Given the description of an element on the screen output the (x, y) to click on. 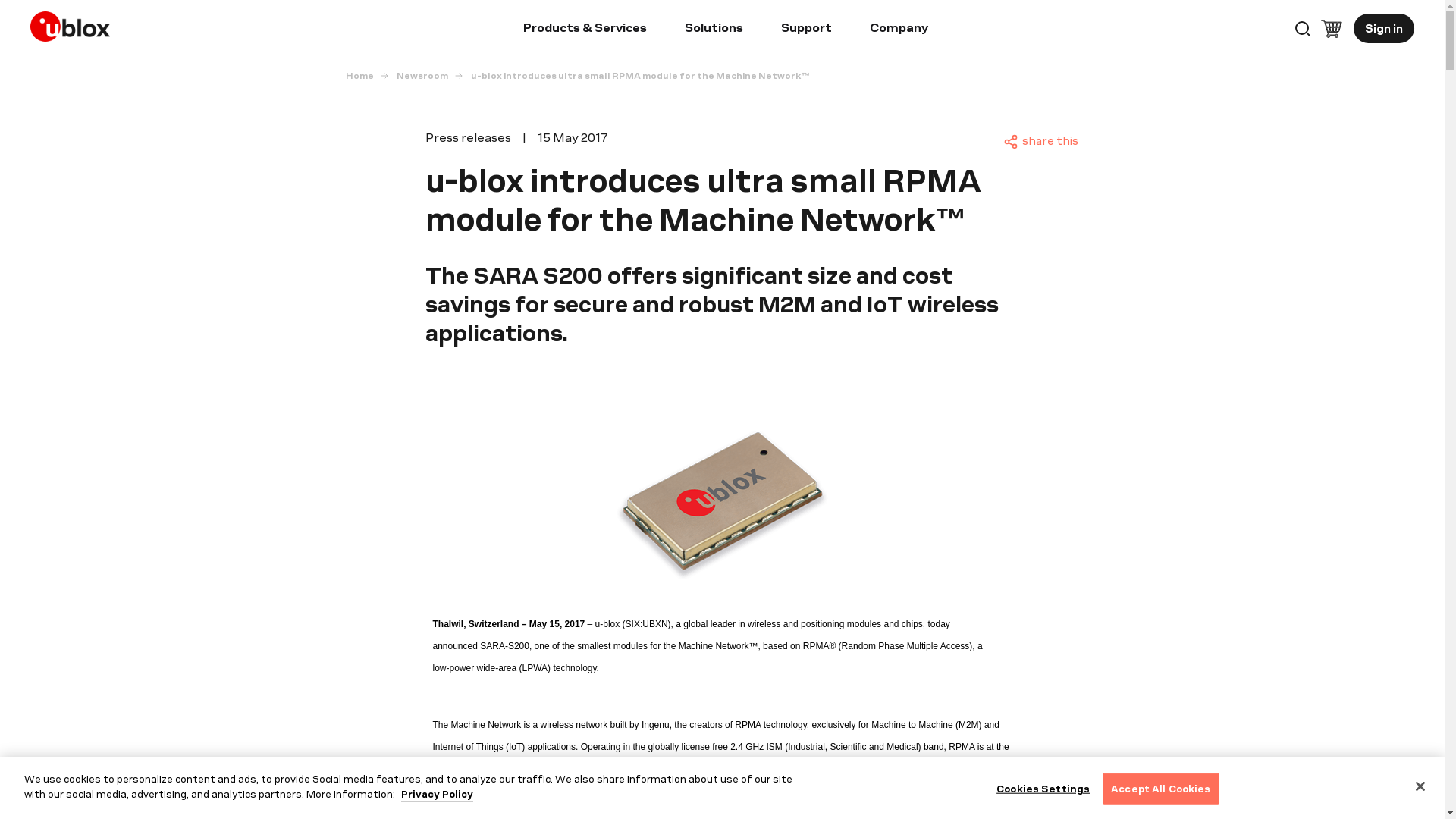
Support (805, 29)
Solutions (713, 29)
u-blox (73, 22)
Company (898, 29)
